Given the description of an element on the screen output the (x, y) to click on. 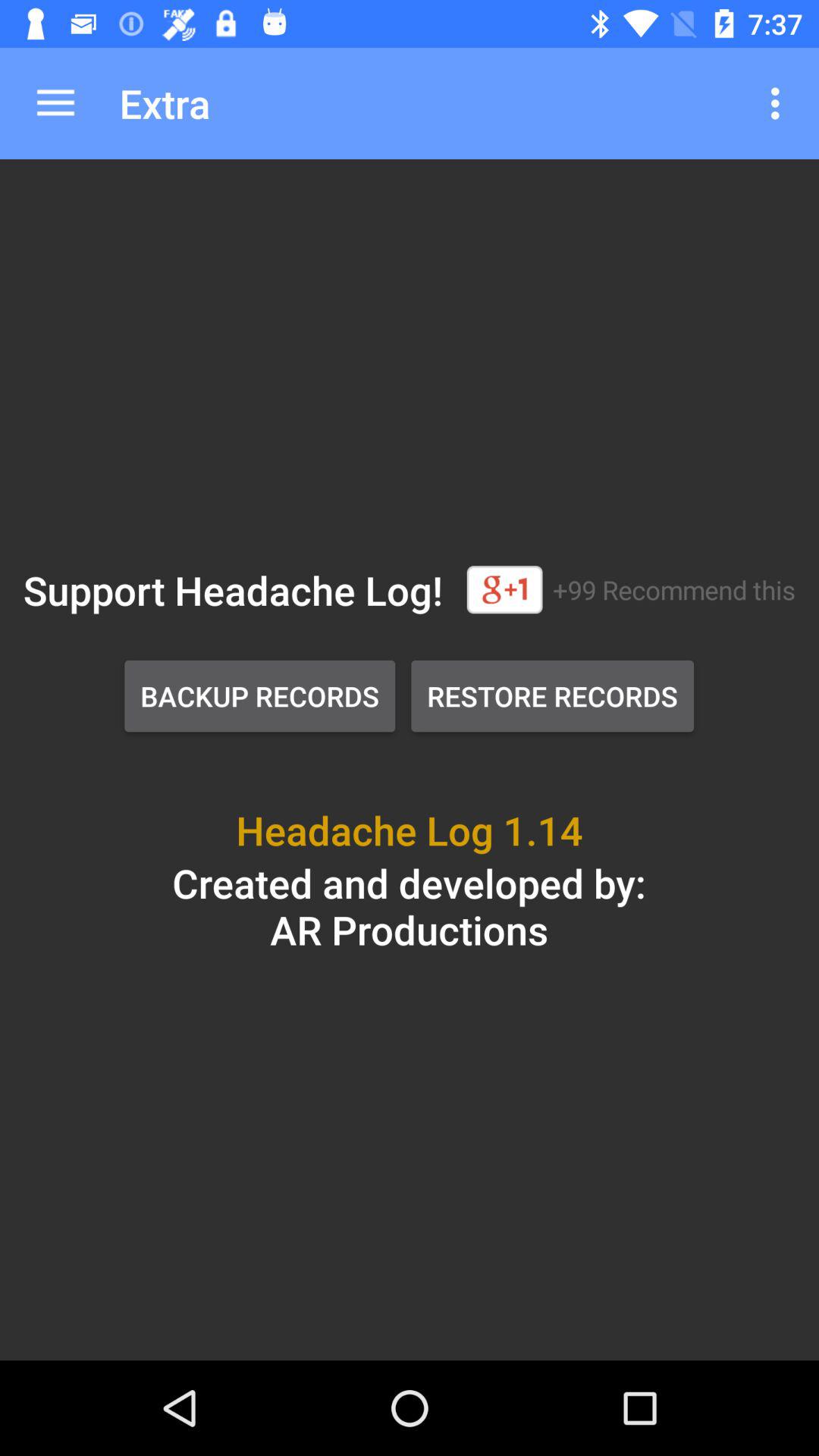
jump until backup records (259, 695)
